Given the description of an element on the screen output the (x, y) to click on. 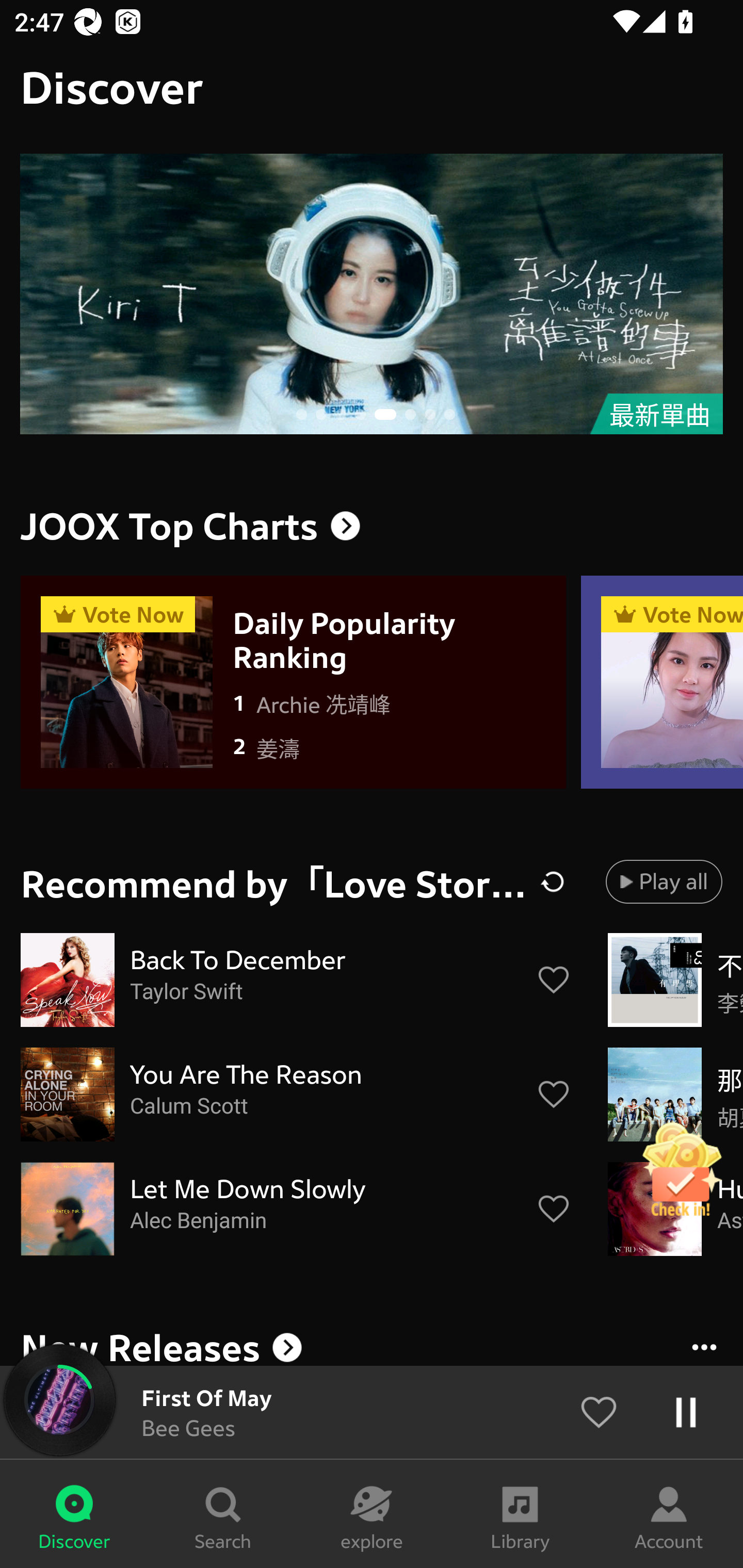
最新單曲   (371, 293)
JOOX Top Charts (371, 525)
Play all (663, 881)
Back To December Taylor Swift (295, 979)
You Are The Reason Calum Scott (295, 1094)
Let Me Down Slowly Alec Benjamin (295, 1208)
New Releases (371, 1344)
First Of May Bee Gees (371, 1412)
Search (222, 1513)
explore (371, 1513)
Library (519, 1513)
Account (668, 1513)
